Given the description of an element on the screen output the (x, y) to click on. 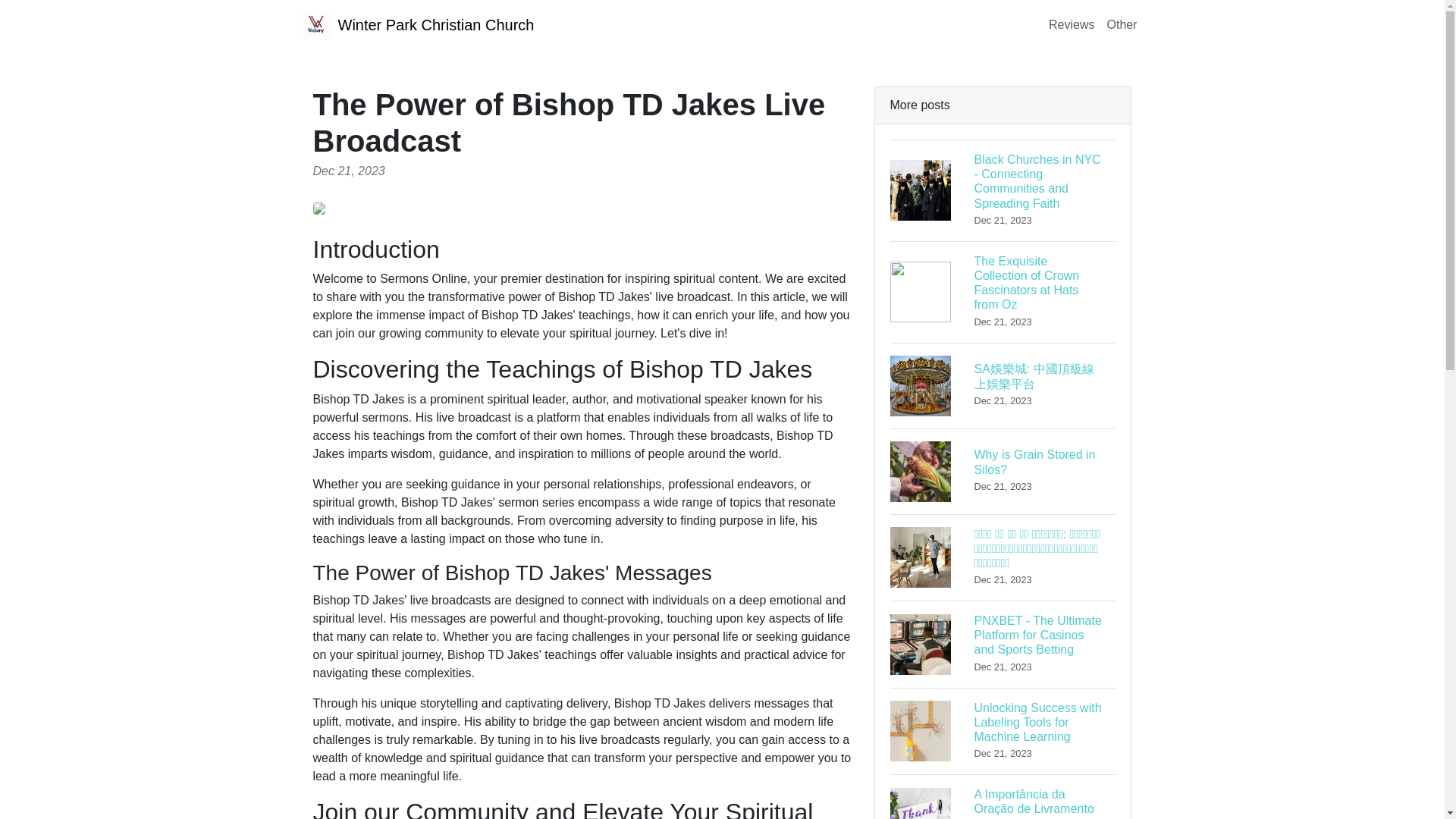
Reviews (1002, 470)
Other (1071, 24)
Winter Park Christian Church (1121, 24)
